Given the description of an element on the screen output the (x, y) to click on. 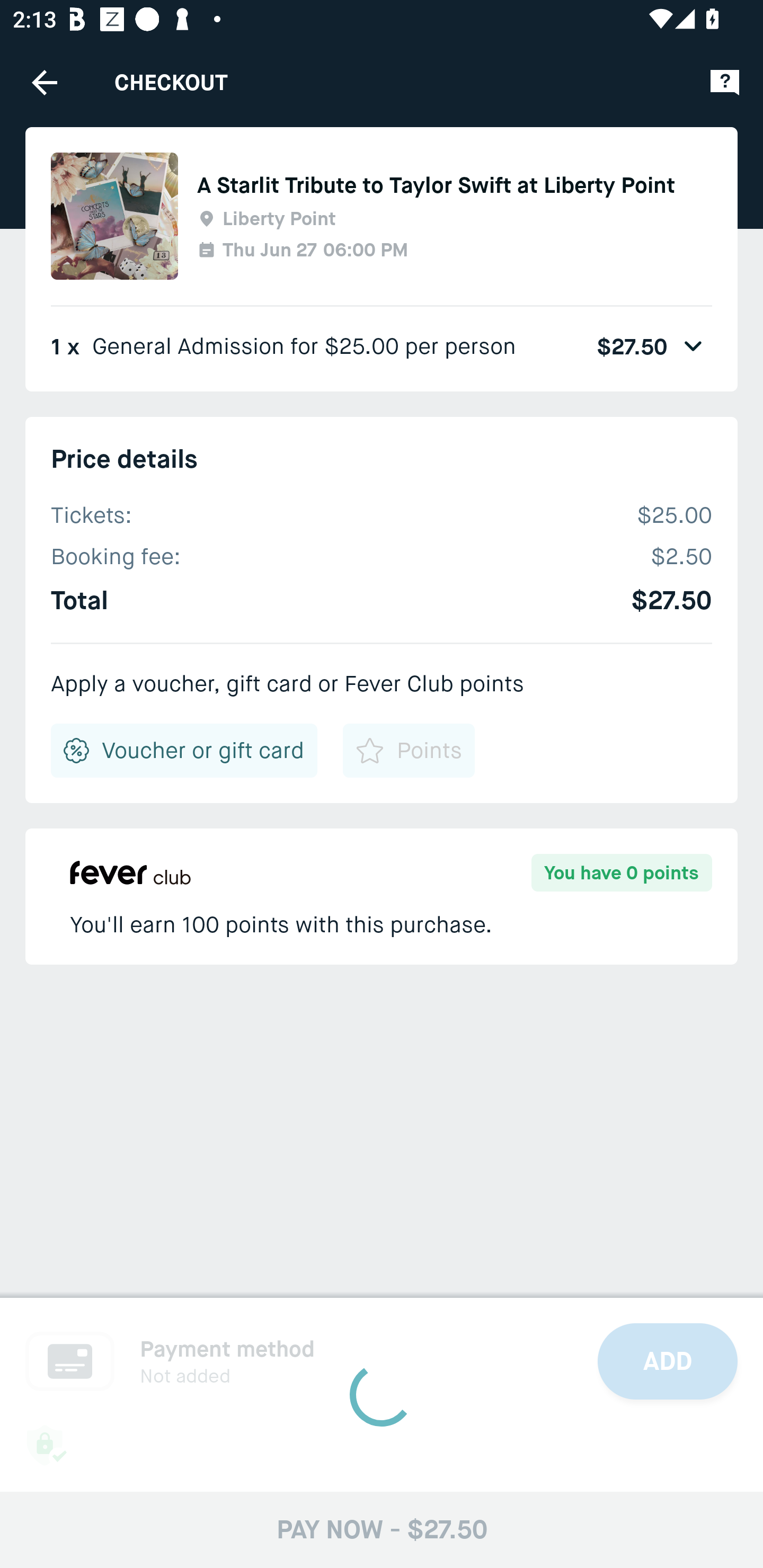
Navigate up (44, 82)
Help (724, 81)
Voucher or gift card (184, 749)
Points (408, 749)
ADD (667, 1361)
PAY NOW - $27.50 (381, 1529)
